Given the description of an element on the screen output the (x, y) to click on. 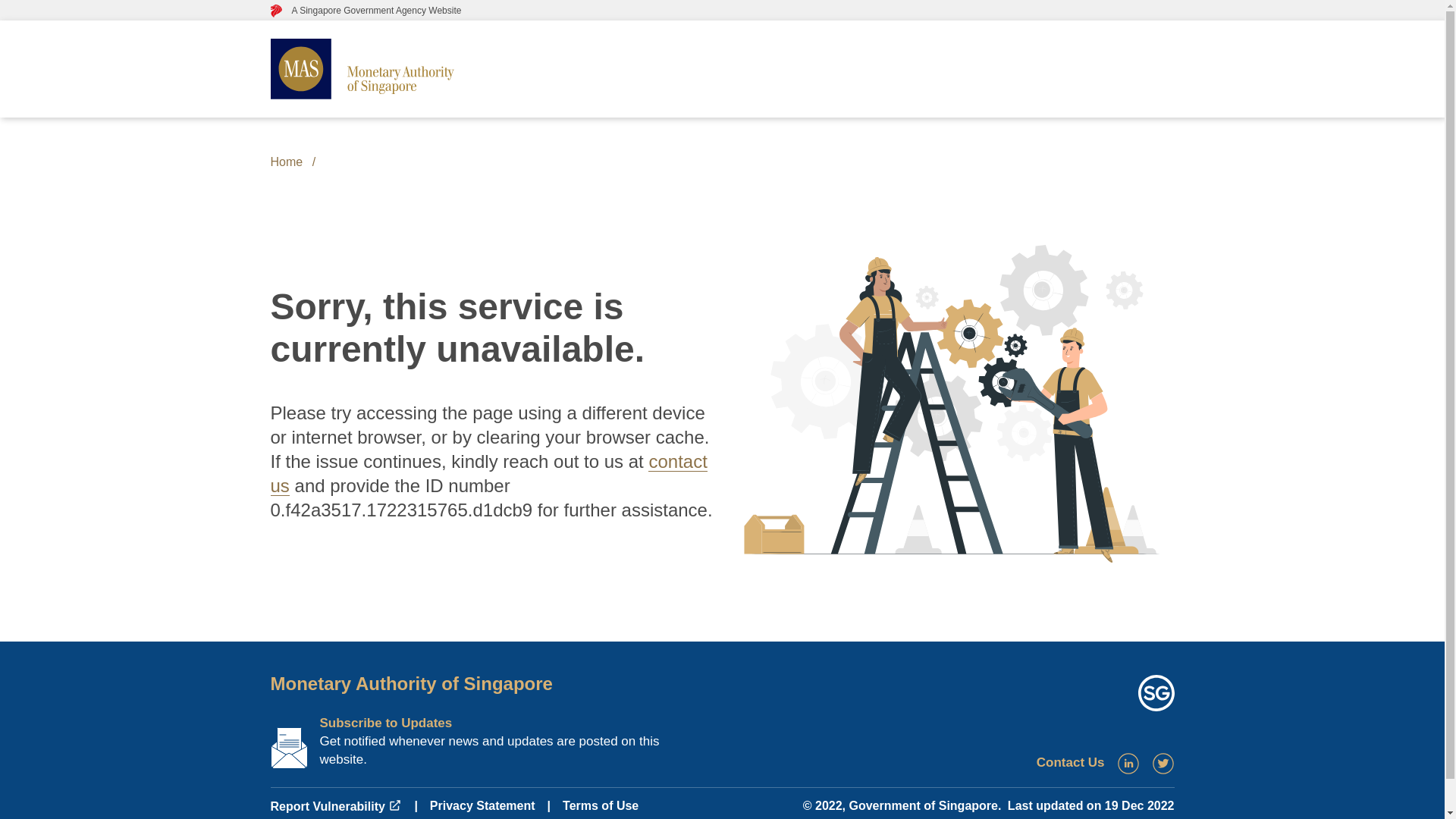
A Singapore Government Agency Website (365, 10)
contact us (487, 473)
Report Vulnerability (335, 806)
Home (285, 161)
Monetary Authority of Singapore (410, 683)
Terms of Use (600, 805)
Contact Us (1070, 762)
Privacy Statement (482, 805)
